Given the description of an element on the screen output the (x, y) to click on. 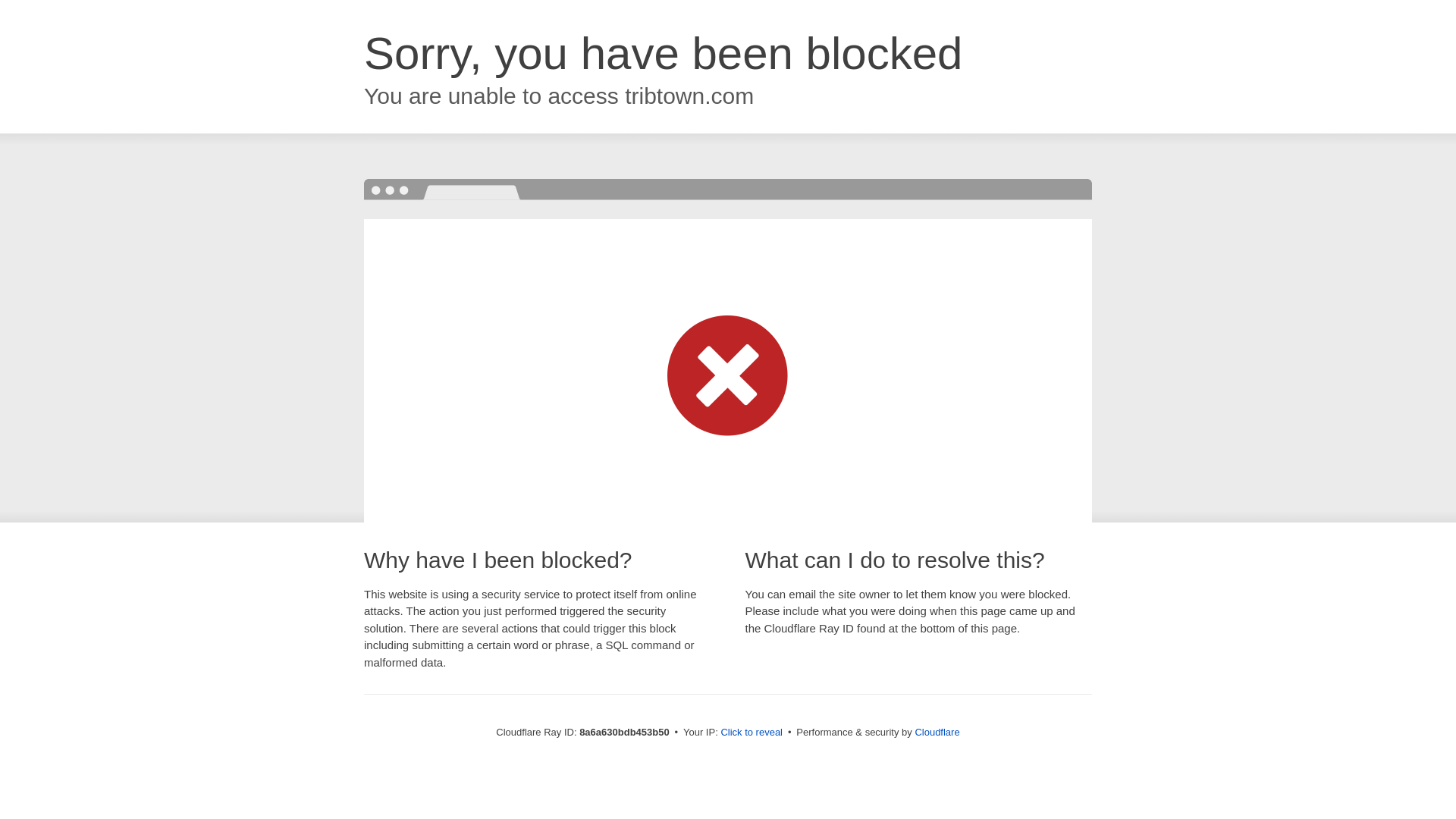
Click to reveal (751, 732)
Cloudflare (936, 731)
